Given the description of an element on the screen output the (x, y) to click on. 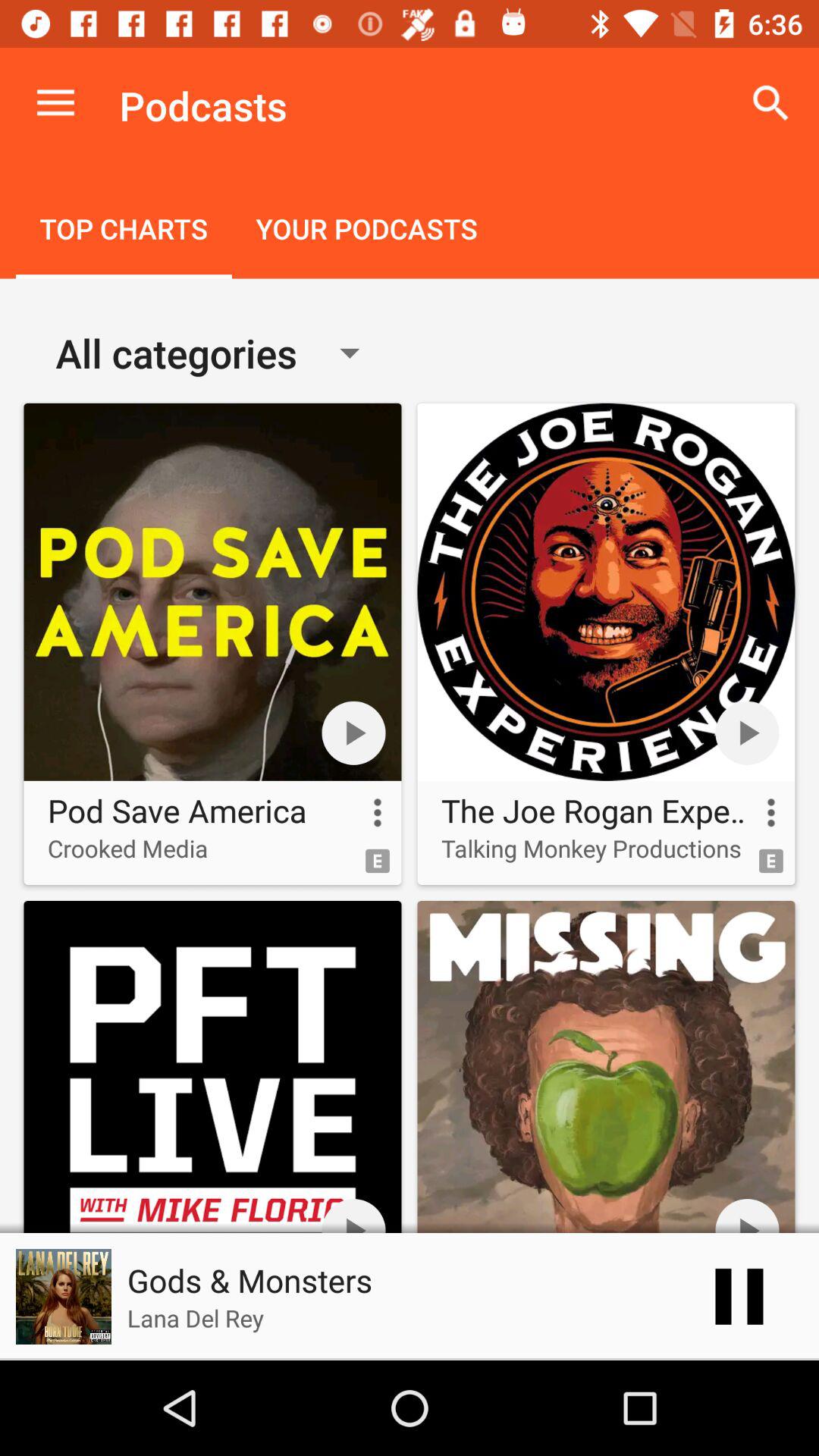
choose icon above top charts (55, 103)
